Given the description of an element on the screen output the (x, y) to click on. 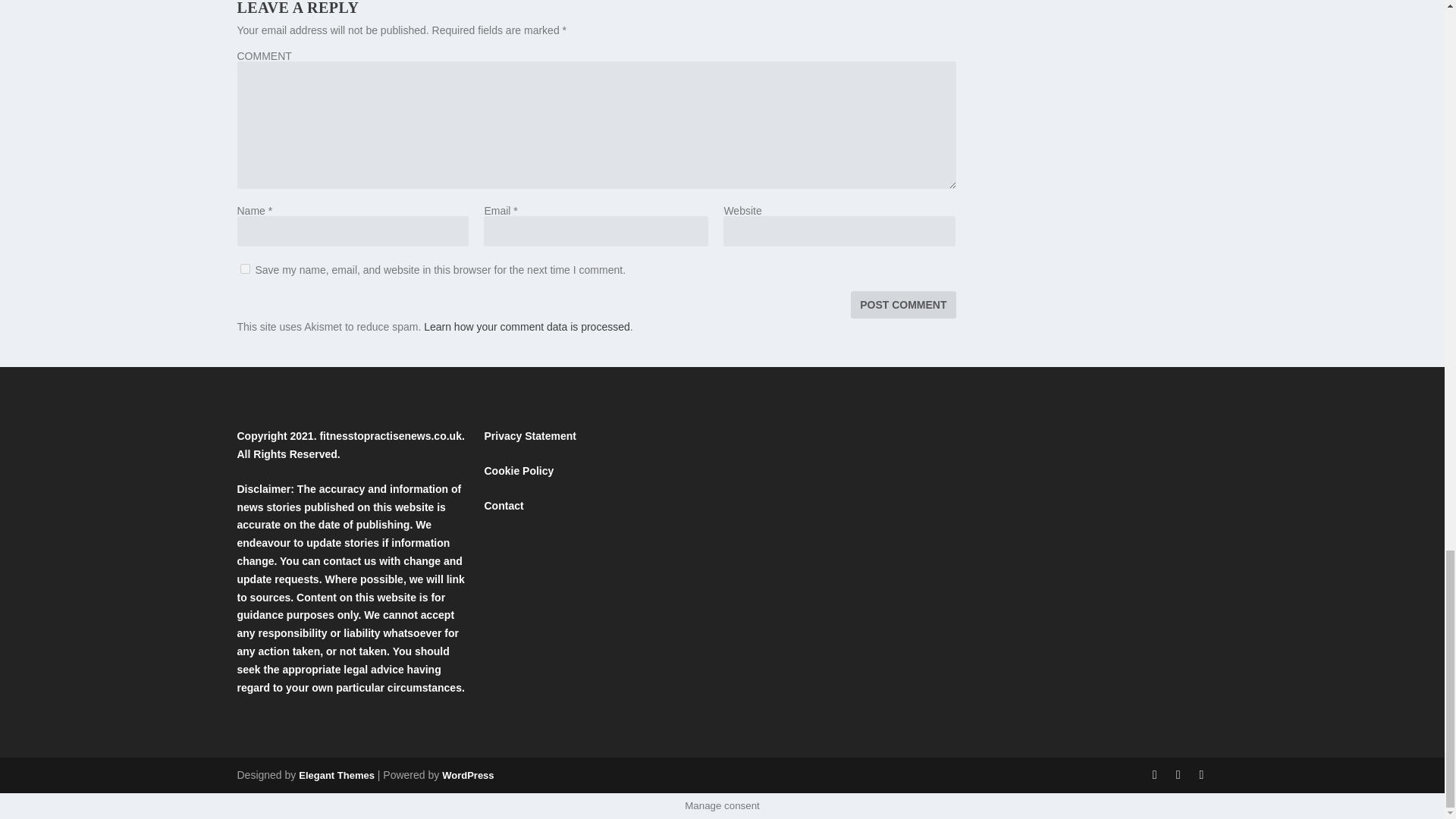
yes (244, 268)
Post Comment (902, 304)
Post Comment (902, 304)
Learn how your comment data is processed (526, 326)
